Given the description of an element on the screen output the (x, y) to click on. 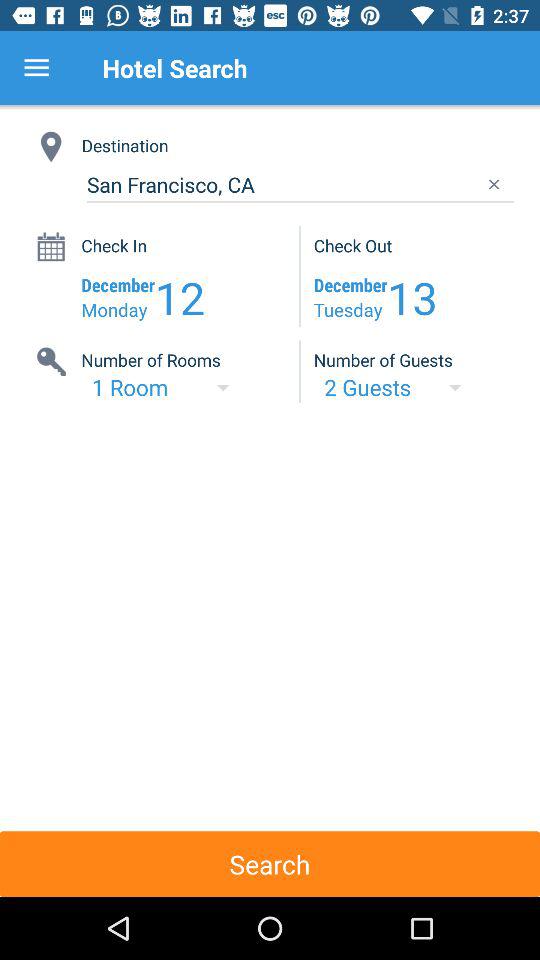
turn off item next to hotel search icon (36, 68)
